Given the description of an element on the screen output the (x, y) to click on. 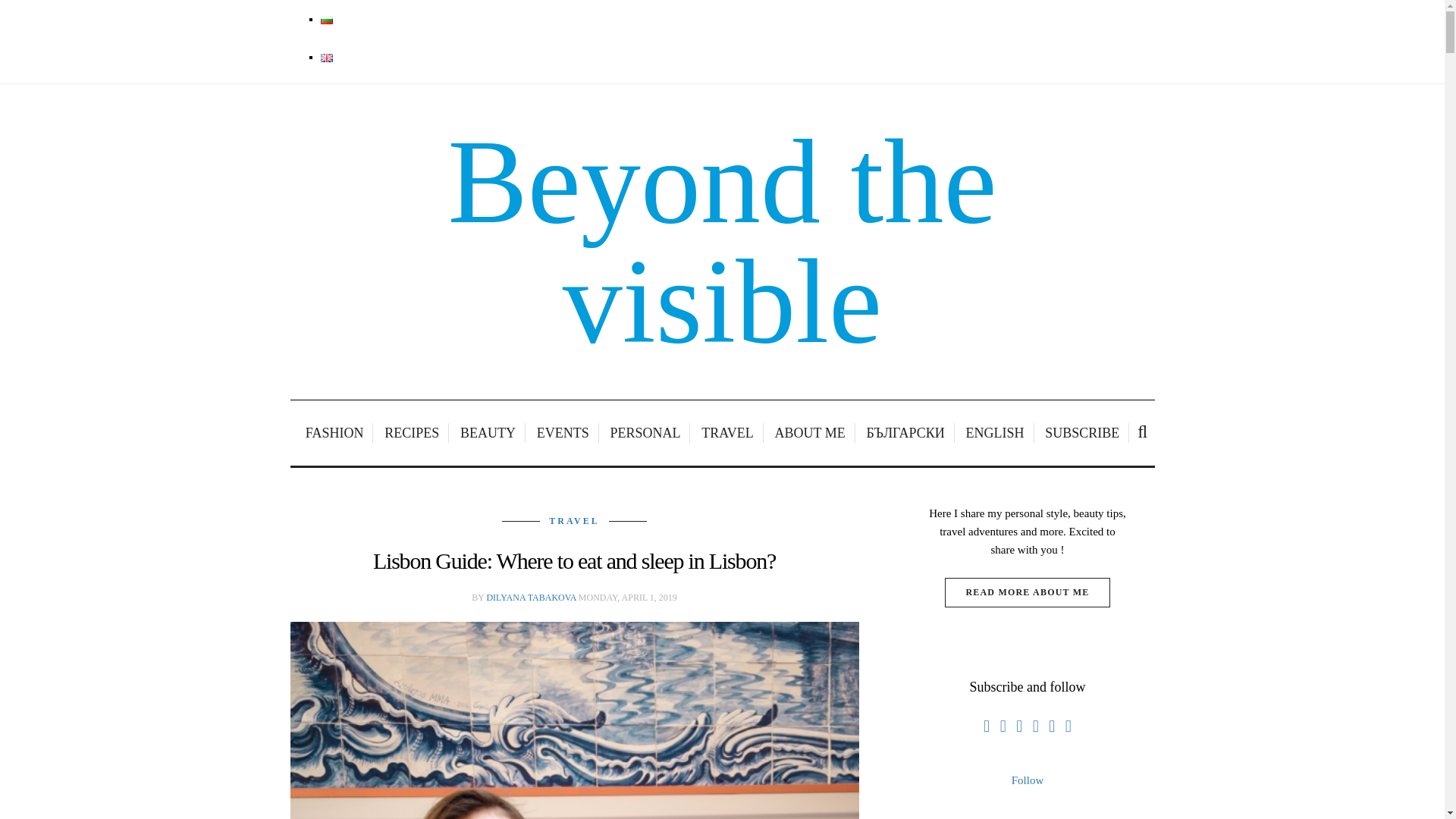
TRAVEL (574, 520)
ABOUT ME (811, 433)
ENGLISH (995, 433)
PERSONAL (645, 433)
RECIPES (411, 433)
BEAUTY (488, 433)
Posts by Dilyana Tabakova (530, 597)
EVENTS (563, 433)
TRAVEL (727, 433)
